Given the description of an element on the screen output the (x, y) to click on. 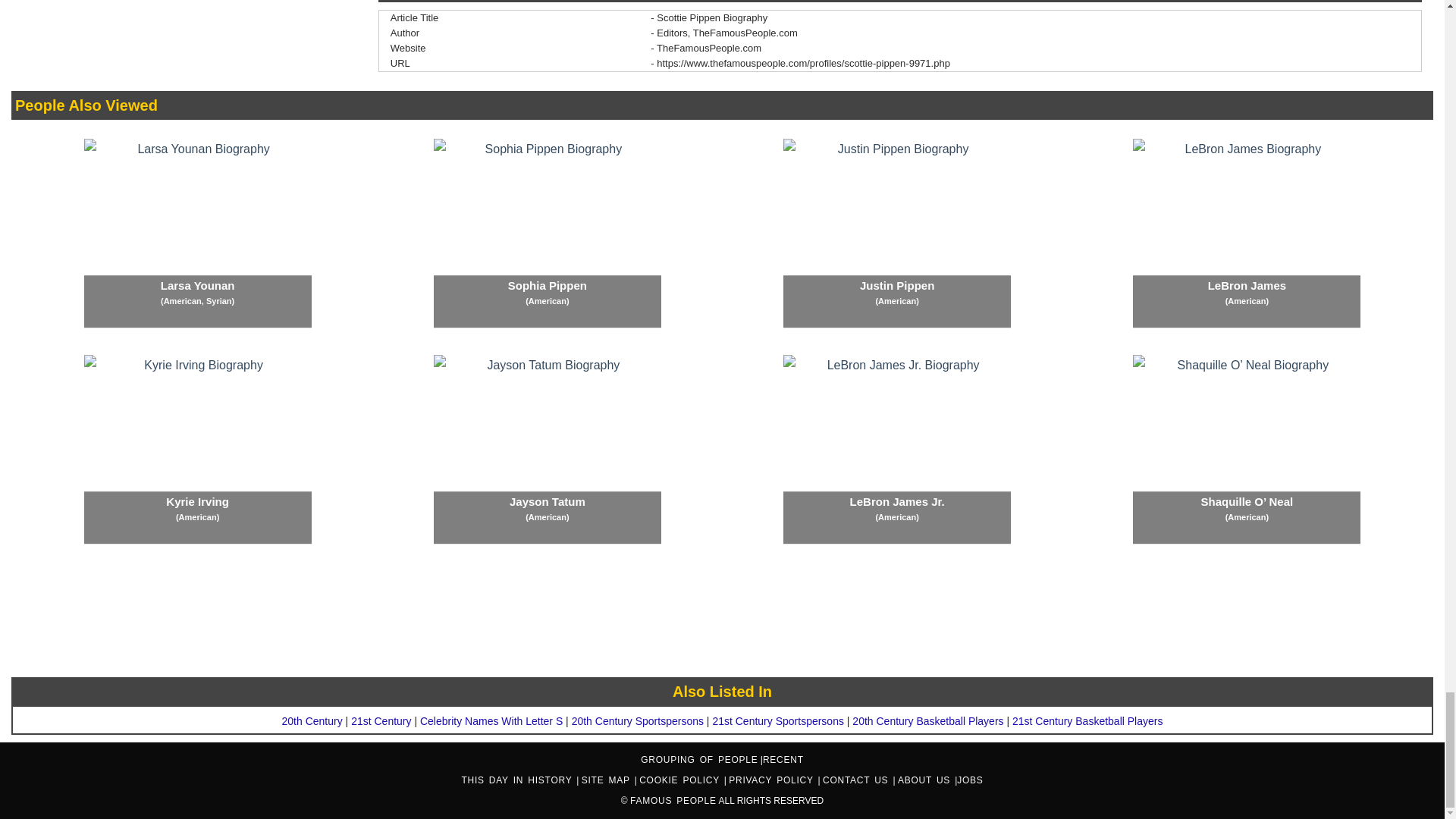
LeBron James (1245, 233)
Justin Pippen (896, 233)
Sophia Pippen (547, 233)
LeBron James Jr. (896, 449)
Jayson Tatum (547, 449)
Kyrie Irving (197, 449)
Larsa Younan (197, 233)
